Given the description of an element on the screen output the (x, y) to click on. 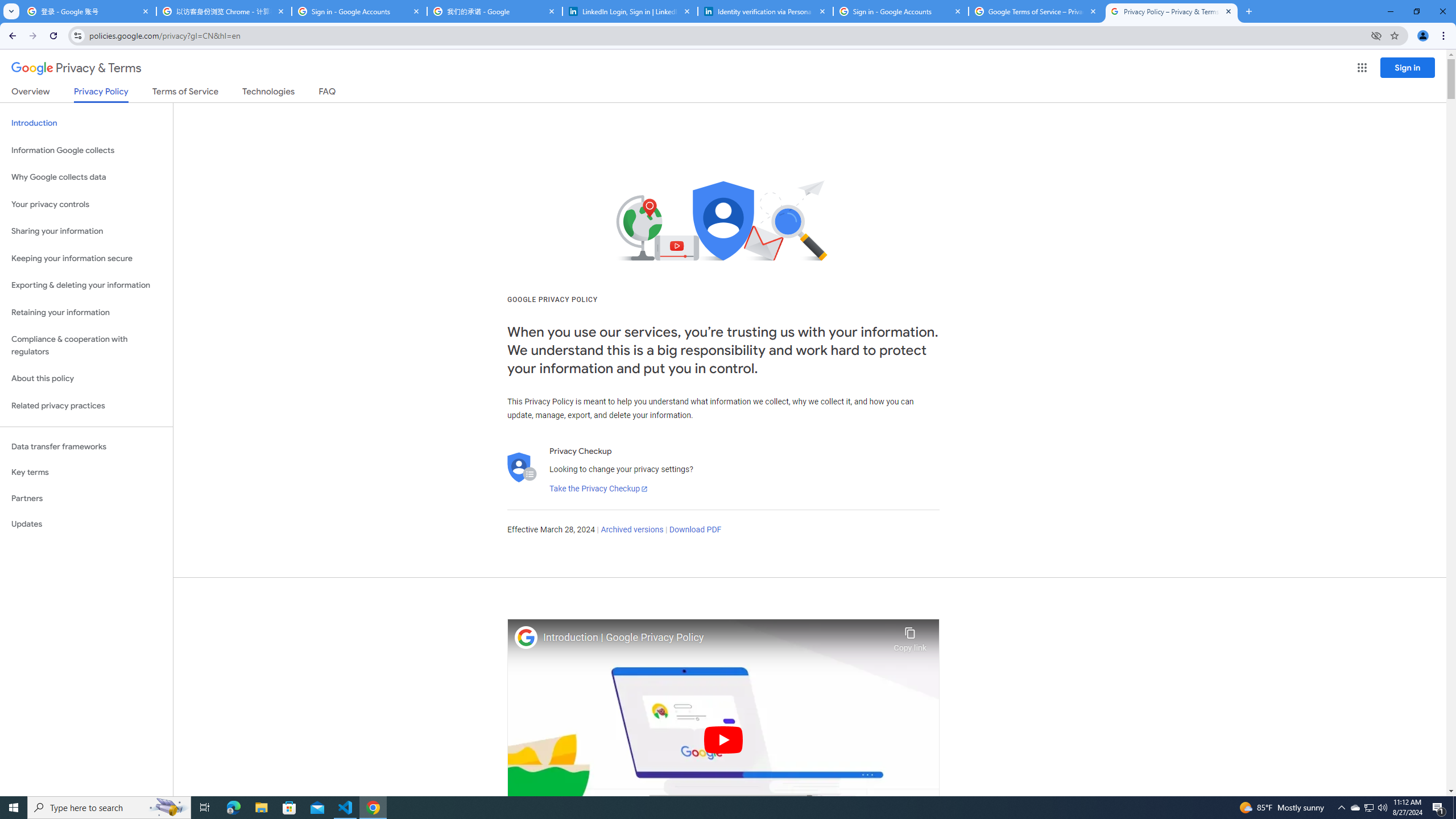
Retaining your information (86, 312)
Take the Privacy Checkup (597, 488)
Partners (86, 497)
Key terms (86, 472)
Introduction | Google Privacy Policy (715, 637)
Your privacy controls (86, 204)
